Given the description of an element on the screen output the (x, y) to click on. 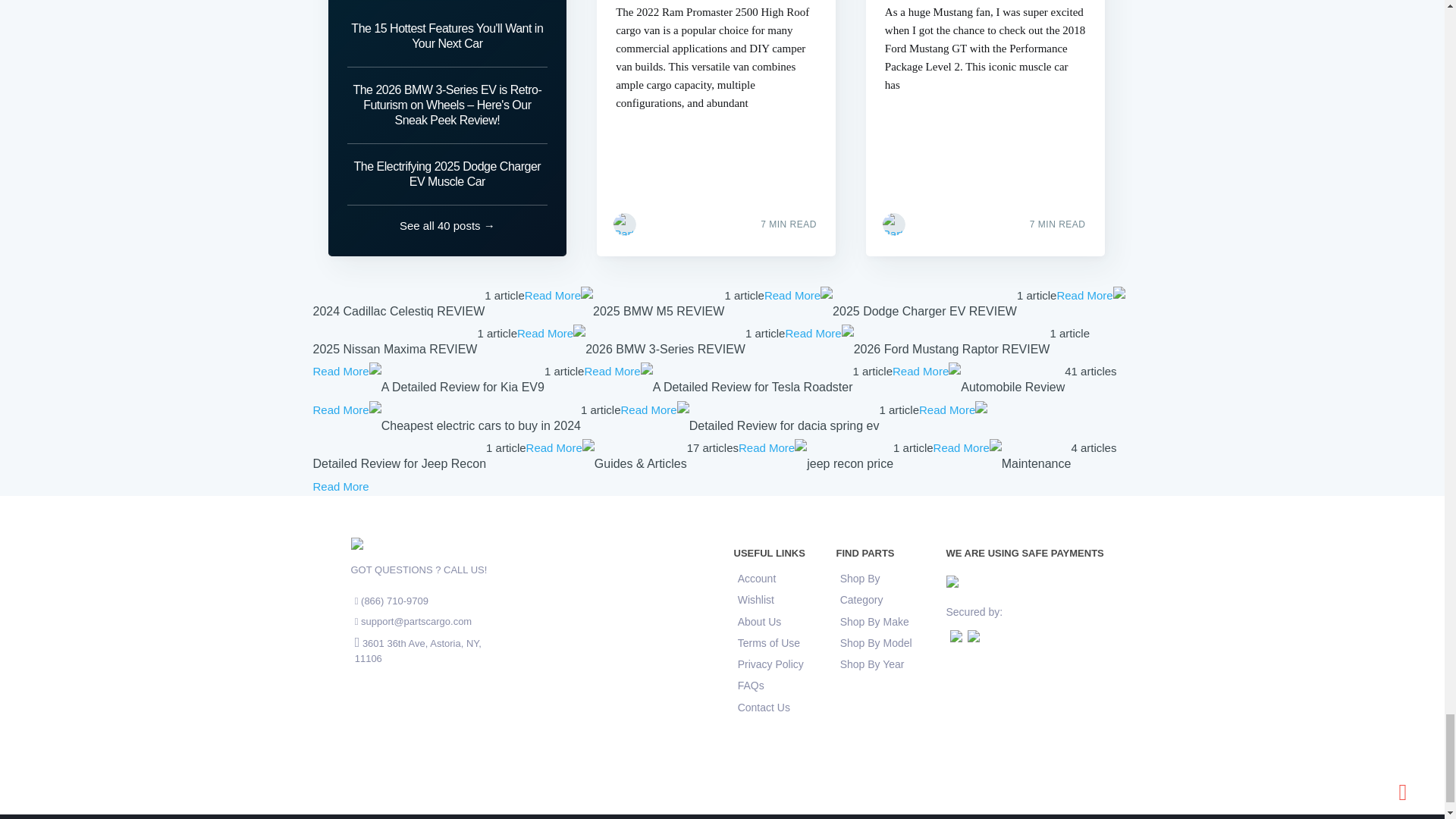
The Electrifying 2025 Dodge Charger EV Muscle Car (447, 174)
Twitter (689, 222)
The 15 Hottest Features You'll Want in Your Next Car (447, 40)
Twitter (958, 222)
Facebook (927, 222)
Facebook (658, 222)
